Given the description of an element on the screen output the (x, y) to click on. 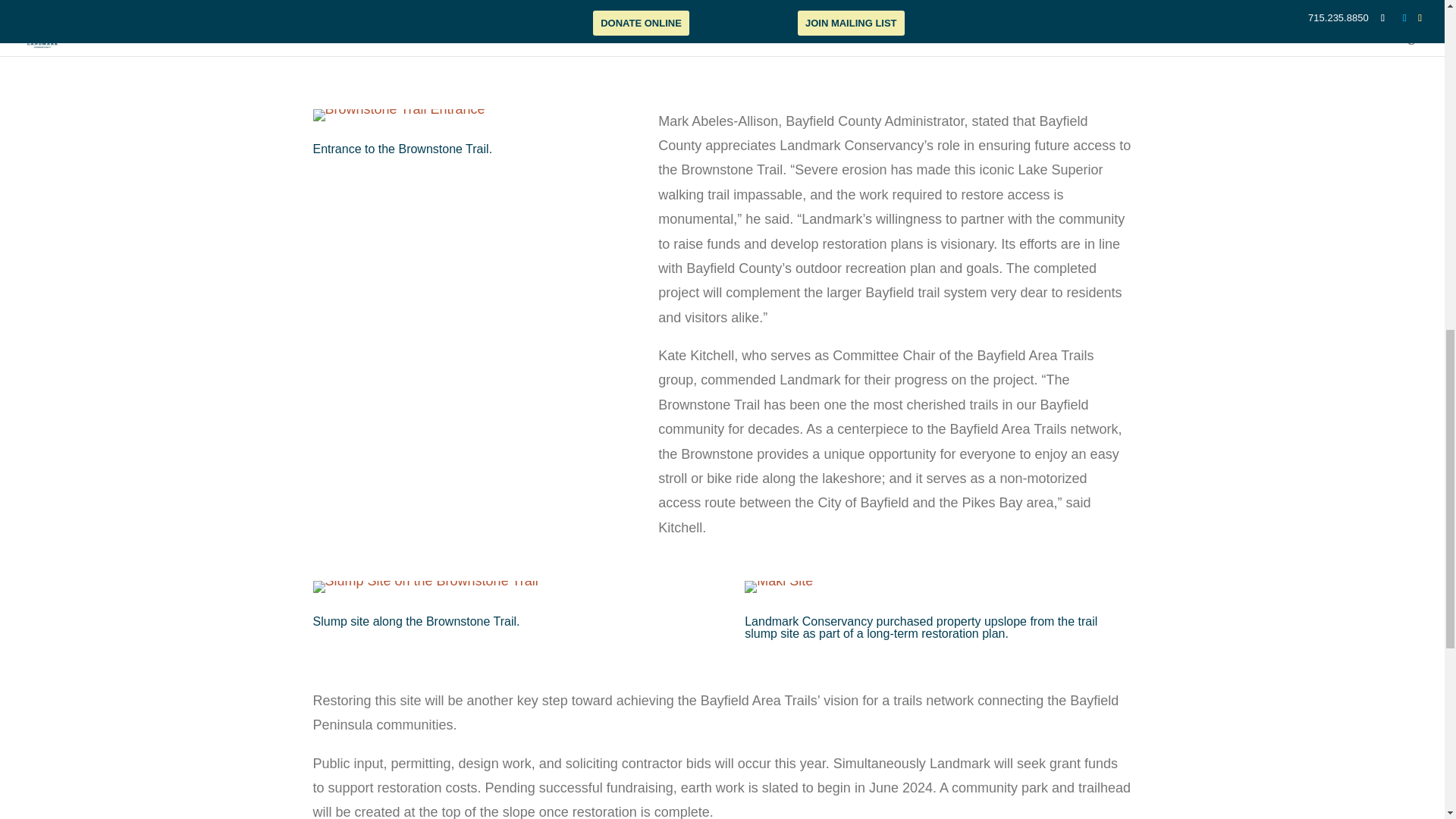
Brownstone Trail Entrance (398, 120)
Maki Site (778, 592)
Slump Site on the Brownstone Trail (425, 586)
Slump Site on the Brownstone Trail (425, 592)
Maki Site (778, 586)
Brownstone Trail Entrance (398, 114)
